Given the description of an element on the screen output the (x, y) to click on. 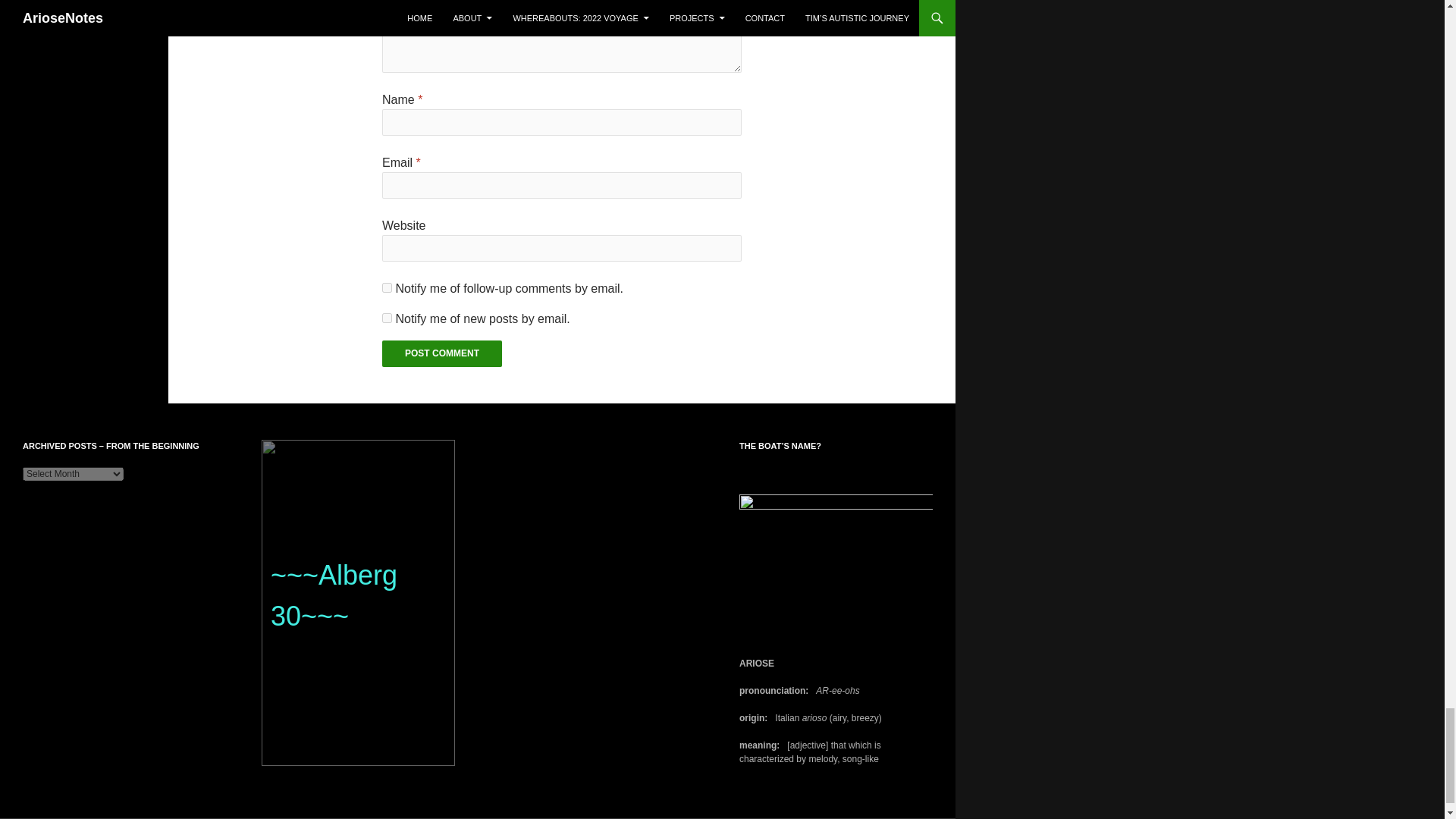
subscribe (386, 317)
Post Comment (441, 353)
subscribe (386, 287)
